Given the description of an element on the screen output the (x, y) to click on. 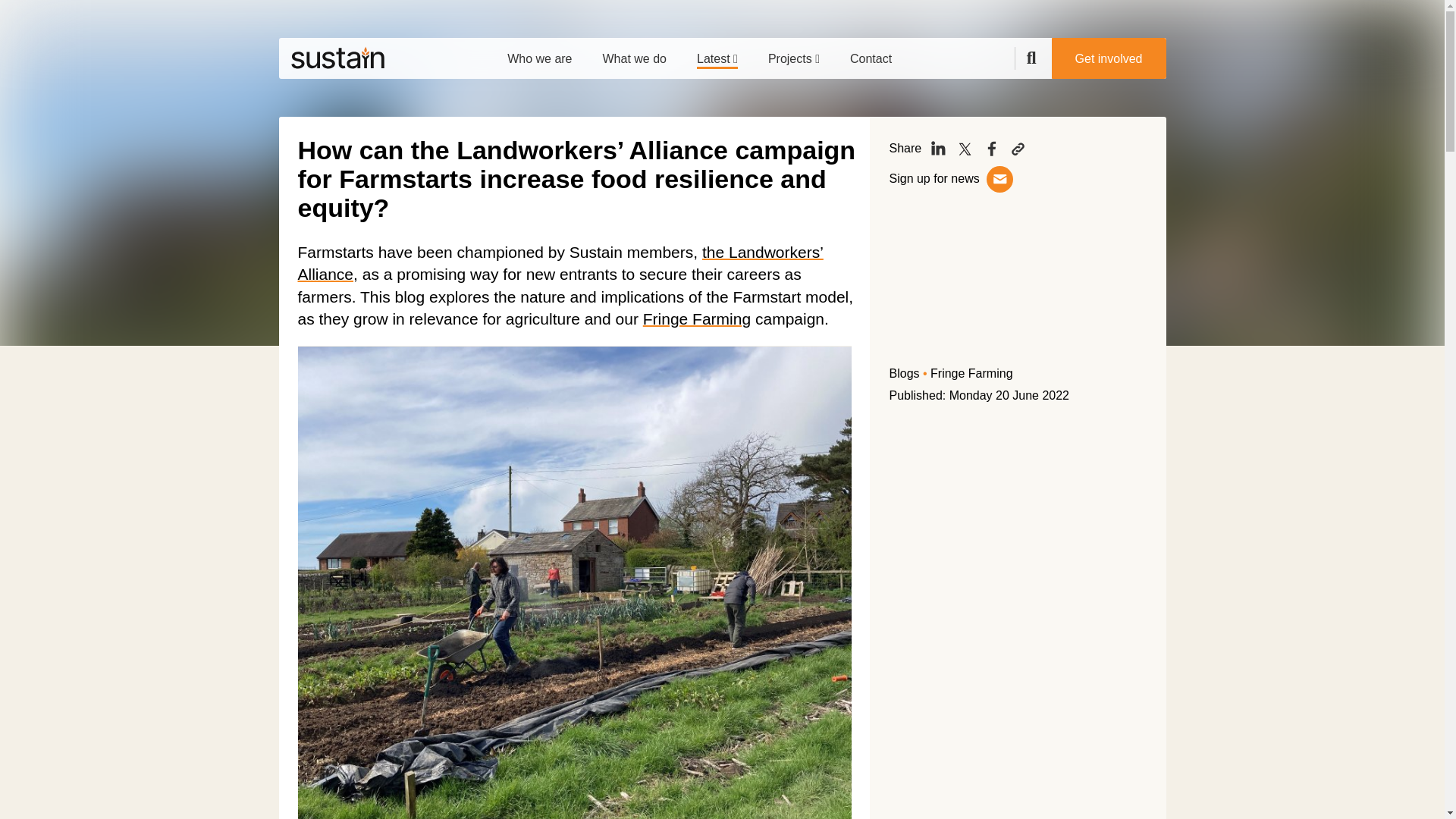
Who we are (539, 52)
Get involved (1108, 57)
What we do (634, 52)
Projects (793, 52)
LinkedIn (938, 148)
Sign up for news (935, 178)
Fringe Farming (697, 318)
Latest (717, 52)
Sustain: the alliance for better food and farming (336, 57)
Blogs (903, 373)
